Given the description of an element on the screen output the (x, y) to click on. 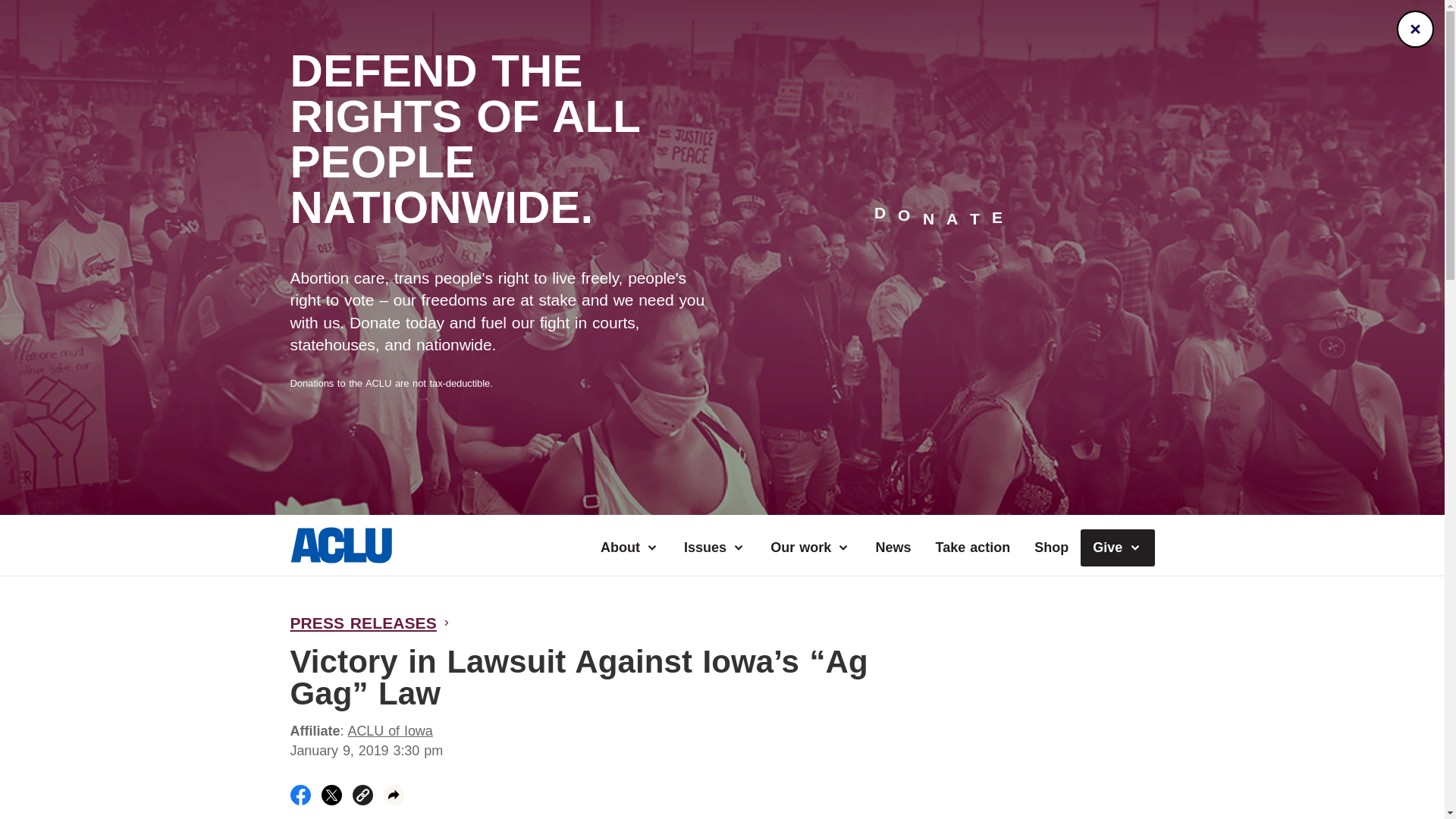
Issues (714, 547)
About (629, 547)
ACLU.org (340, 558)
